Given the description of an element on the screen output the (x, y) to click on. 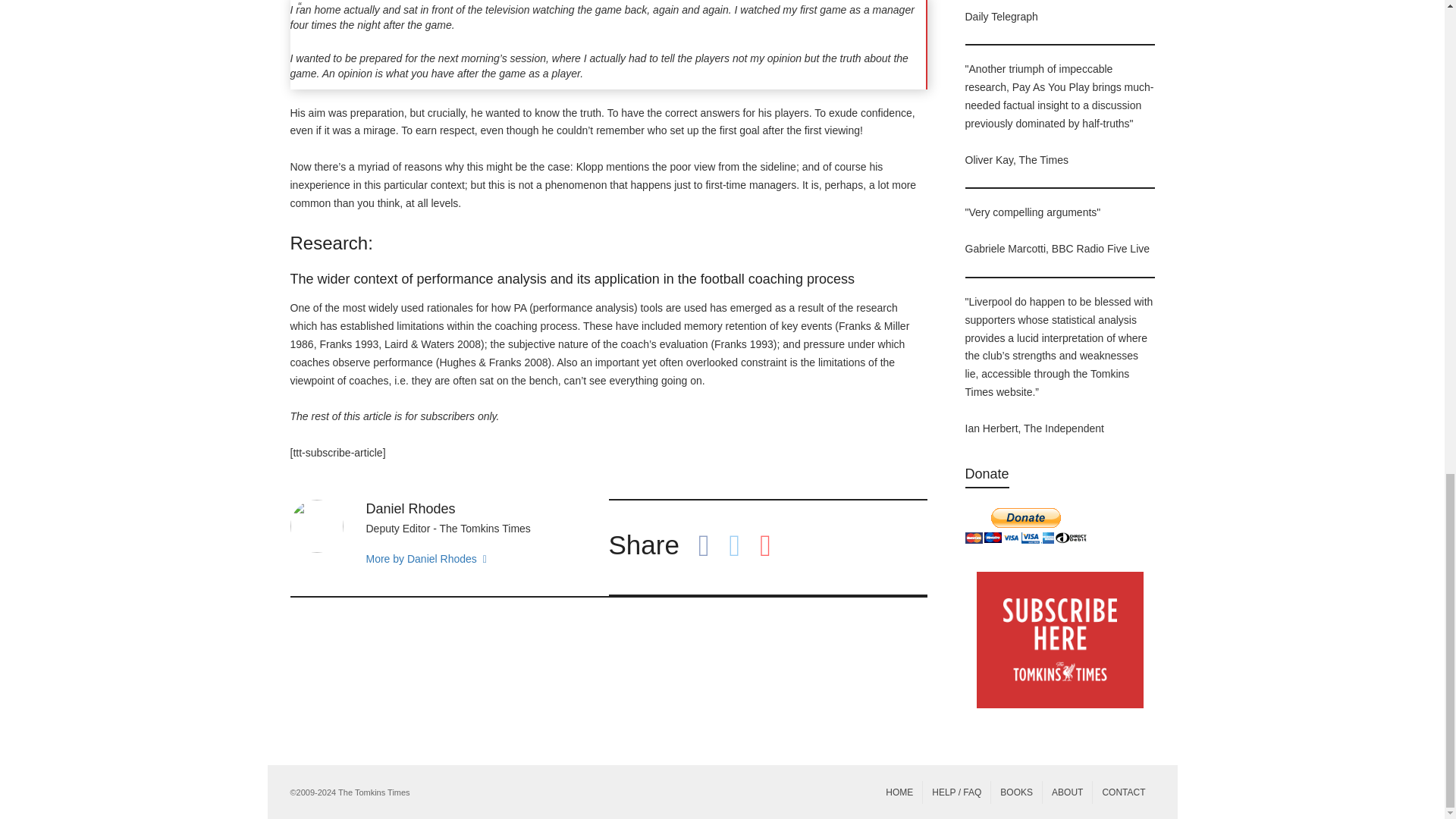
CONTACT (1123, 792)
More by Daniel Rhodes (454, 559)
ABOUT (1067, 792)
HOME (898, 792)
BOOKS (1016, 792)
